Given the description of an element on the screen output the (x, y) to click on. 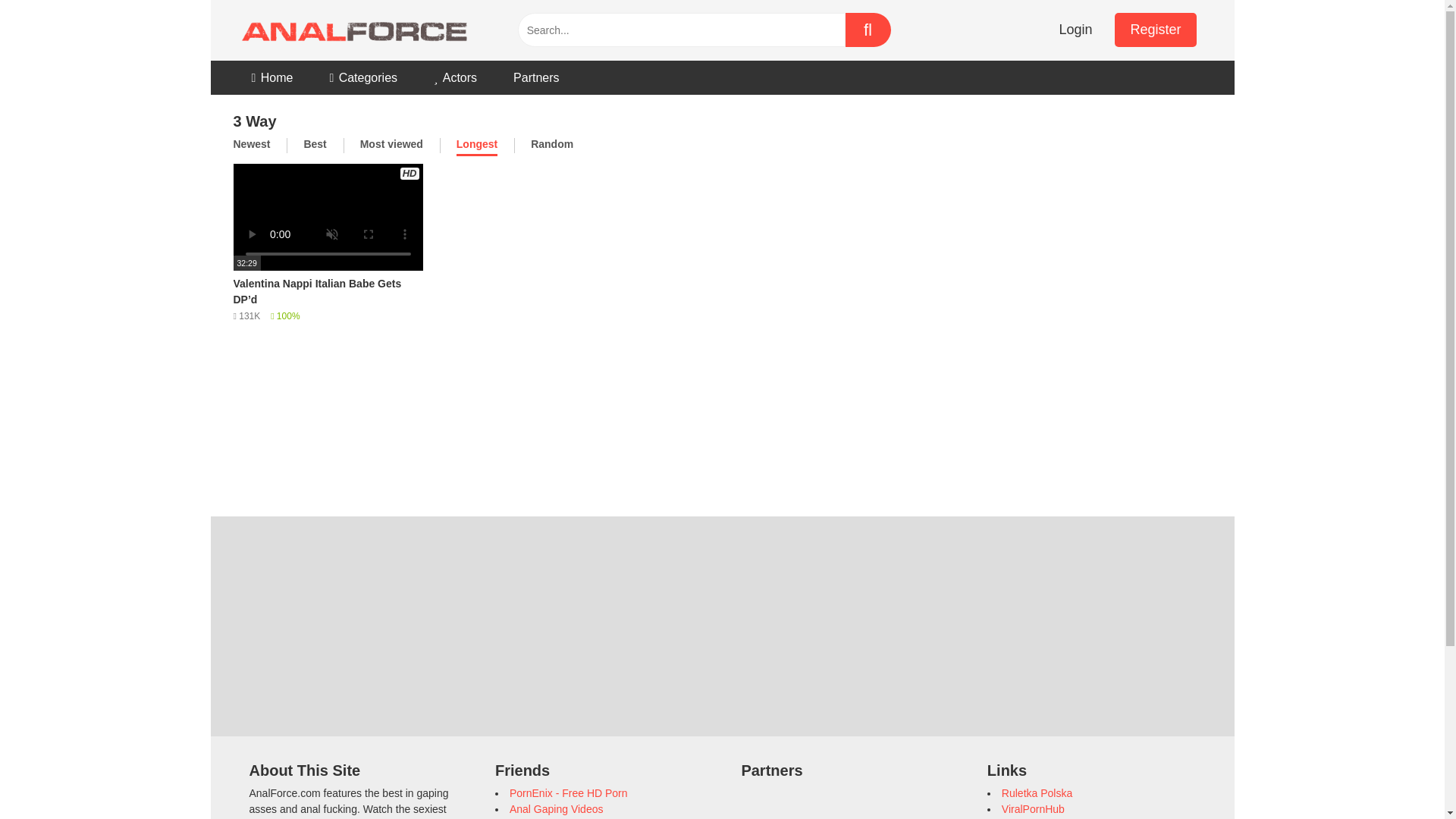
Login (1075, 29)
PornEnix - Free HD Porn (568, 793)
Actors (454, 77)
Random (552, 145)
Home (271, 77)
Newest (251, 145)
Best (314, 145)
AnalForce (350, 30)
Search... (680, 29)
Most viewed (391, 145)
Anal Gaping Videos (556, 808)
Register (1155, 29)
Categories (362, 77)
ViralPornHub (1032, 808)
Partners (535, 77)
